Given the description of an element on the screen output the (x, y) to click on. 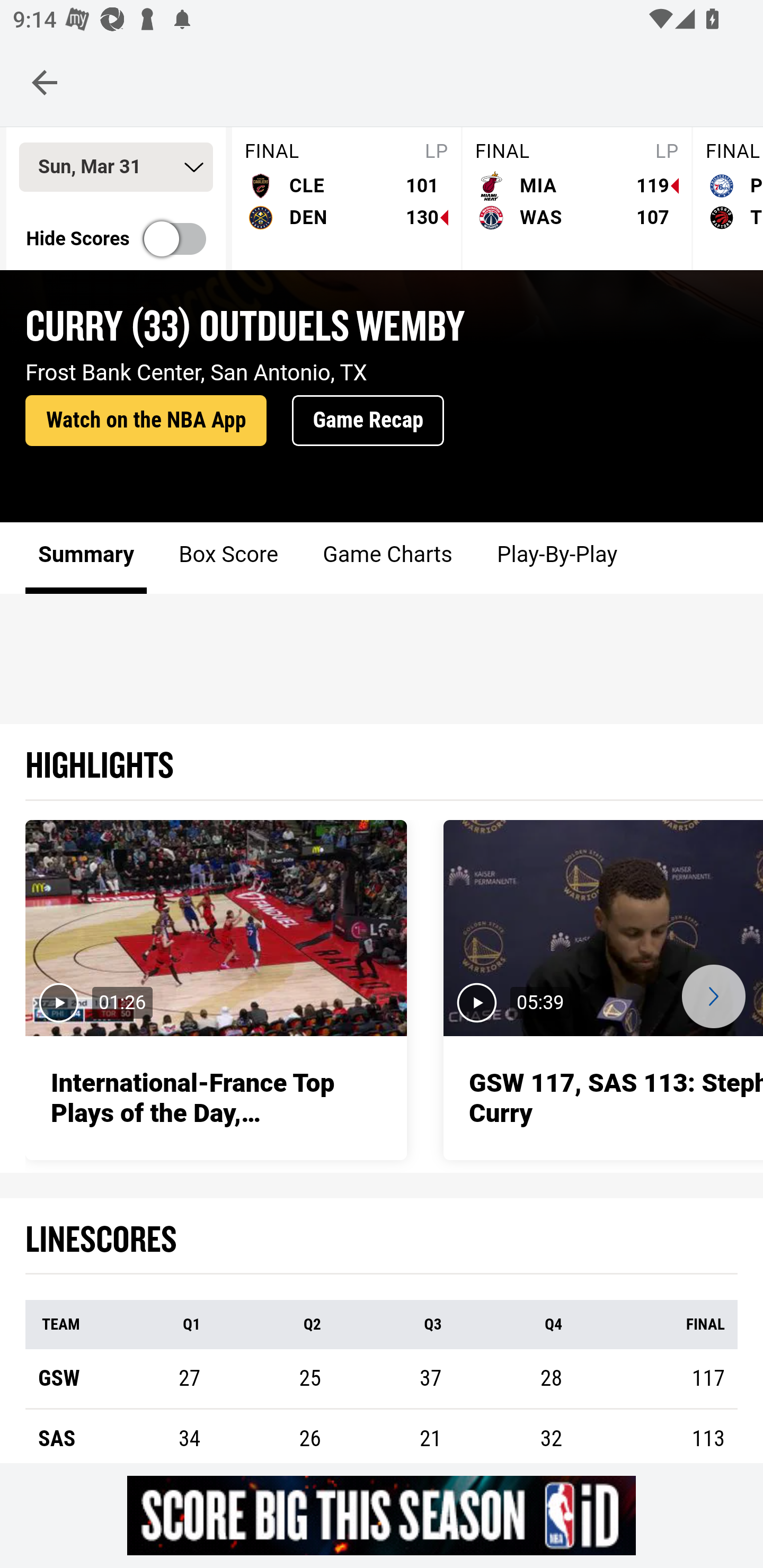
Navigate up (44, 82)
Sun, Mar 31 (115, 168)
Watch on the NBA App (146, 420)
Game Recap (367, 420)
Summary Summary Summary (86, 558)
Box Score Box Score Box Score (228, 558)
Game Charts Game Charts Game Charts (387, 558)
Play-By-Play Play-By-Play Play-By-Play (556, 558)
Carousel Button (713, 997)
g5nqqygr7owph (381, 1515)
